Given the description of an element on the screen output the (x, y) to click on. 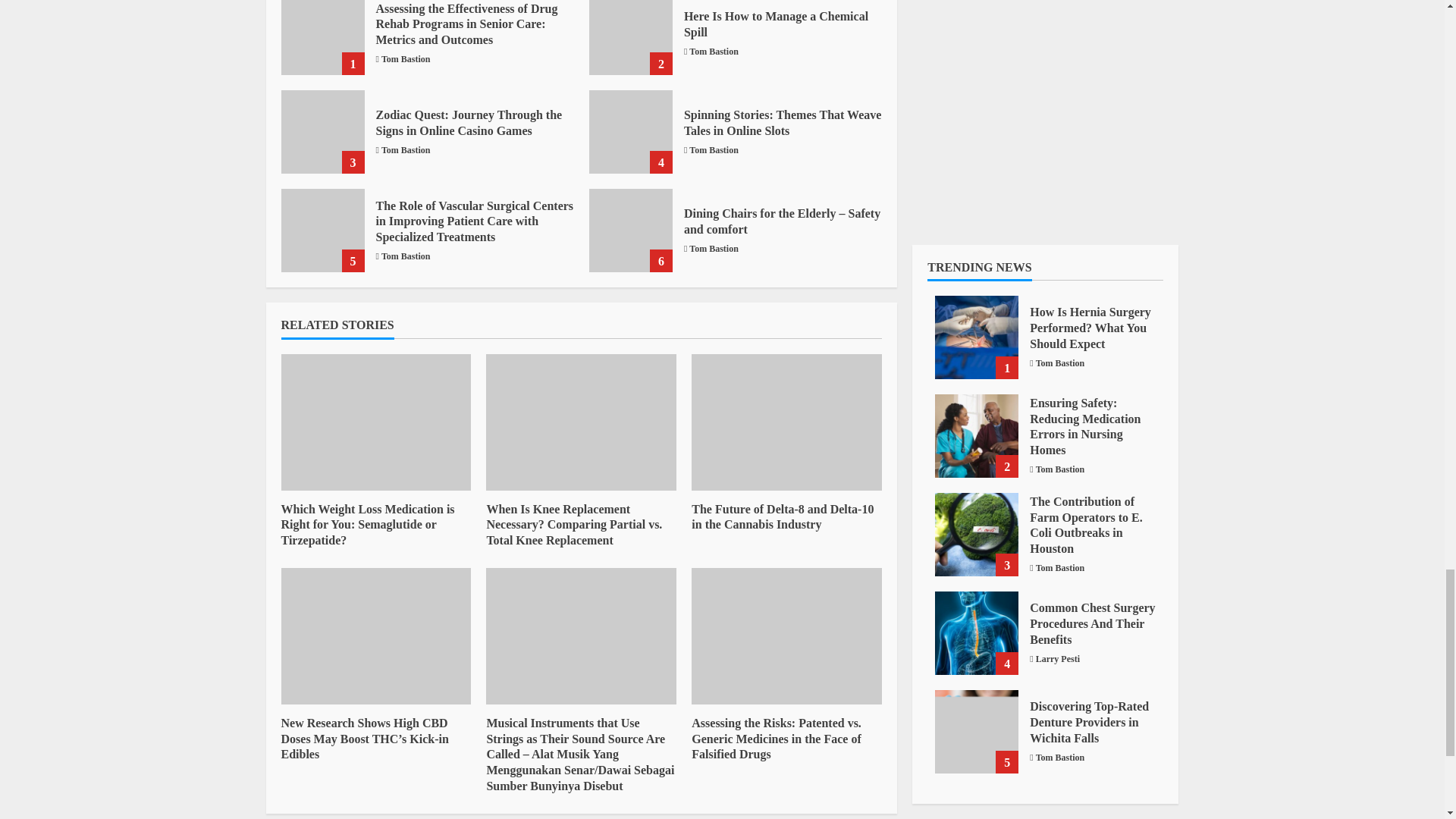
Here Is How to Manage a Chemical Spill (630, 37)
Tom Bastion (713, 51)
Spinning Stories: Themes That Weave Tales in Online Slots (783, 122)
Tom Bastion (713, 150)
Spinning Stories: Themes That Weave Tales in Online Slots (630, 131)
